Given the description of an element on the screen output the (x, y) to click on. 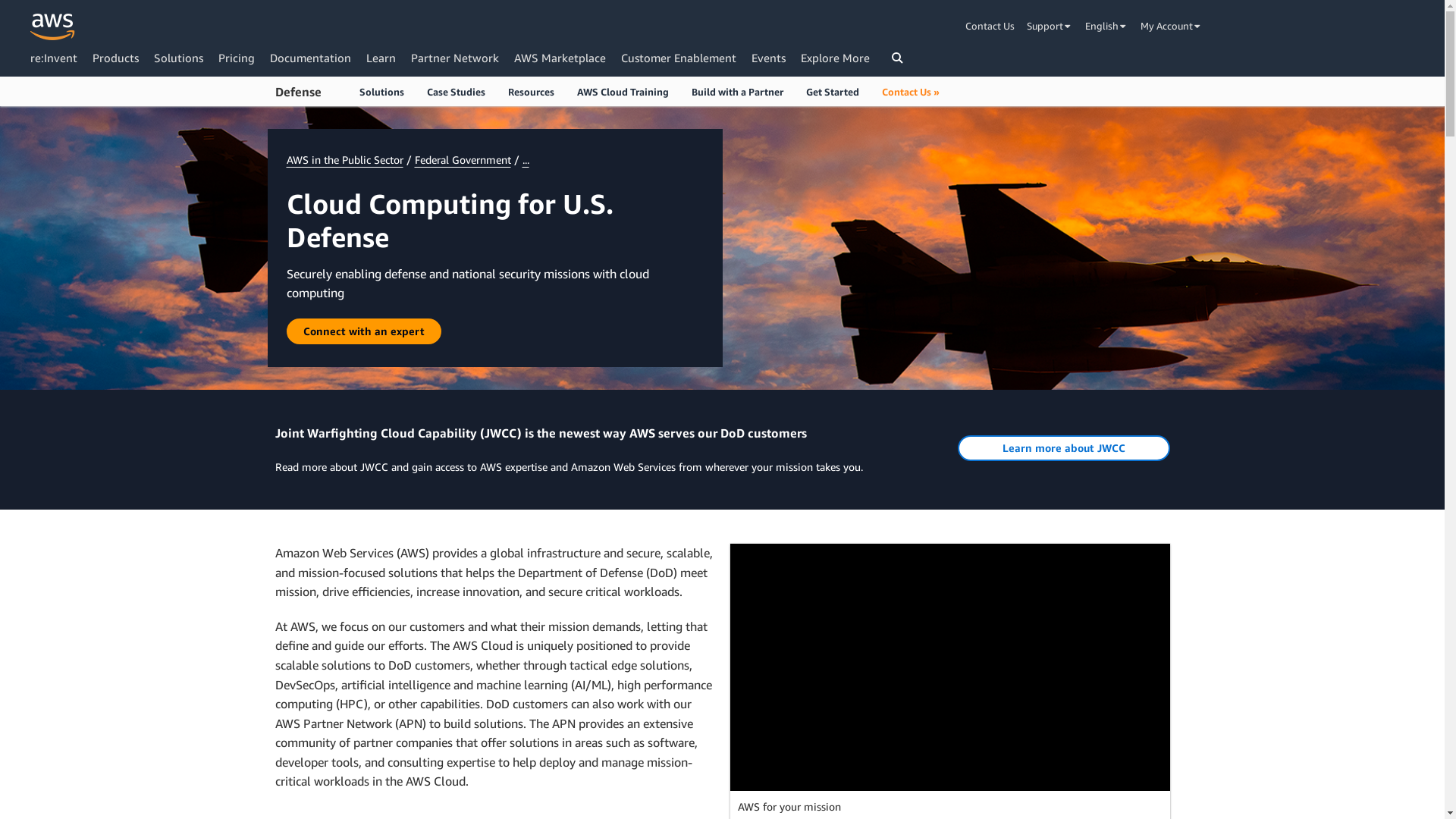
Build with a Partner Element type: text (736, 91)
Connect with an expert Element type: text (363, 331)
Learn Element type: text (380, 57)
Defense Element type: text (297, 92)
AWS Cloud Training Element type: text (622, 91)
Federal Government Element type: text (462, 159)
re:Invent Element type: text (53, 57)
My Account  Element type: text (1171, 26)
Support  Element type: text (1049, 26)
Pricing Element type: text (236, 57)
Customer Enablement Element type: text (678, 57)
AWS Marketplace Element type: text (559, 57)
English  Element type: text (1106, 26)
Get Started Element type: text (832, 91)
AWS in the Public Sector Element type: text (344, 159)
Learn more about JWCC Element type: text (1063, 448)
Contact Us Element type: text (992, 26)
Explore More Element type: text (834, 57)
Partner Network Element type: text (454, 57)
Documentation Element type: text (310, 57)
Solutions Element type: text (380, 91)
Case Studies Element type: text (455, 91)
Products Element type: text (115, 57)
Resources Element type: text (529, 91)
... Element type: text (524, 159)
Click here to return to Amazon Web Services homepage Element type: text (52, 26)
Solutions Element type: text (178, 57)
Events Element type: text (768, 57)
